Given the description of an element on the screen output the (x, y) to click on. 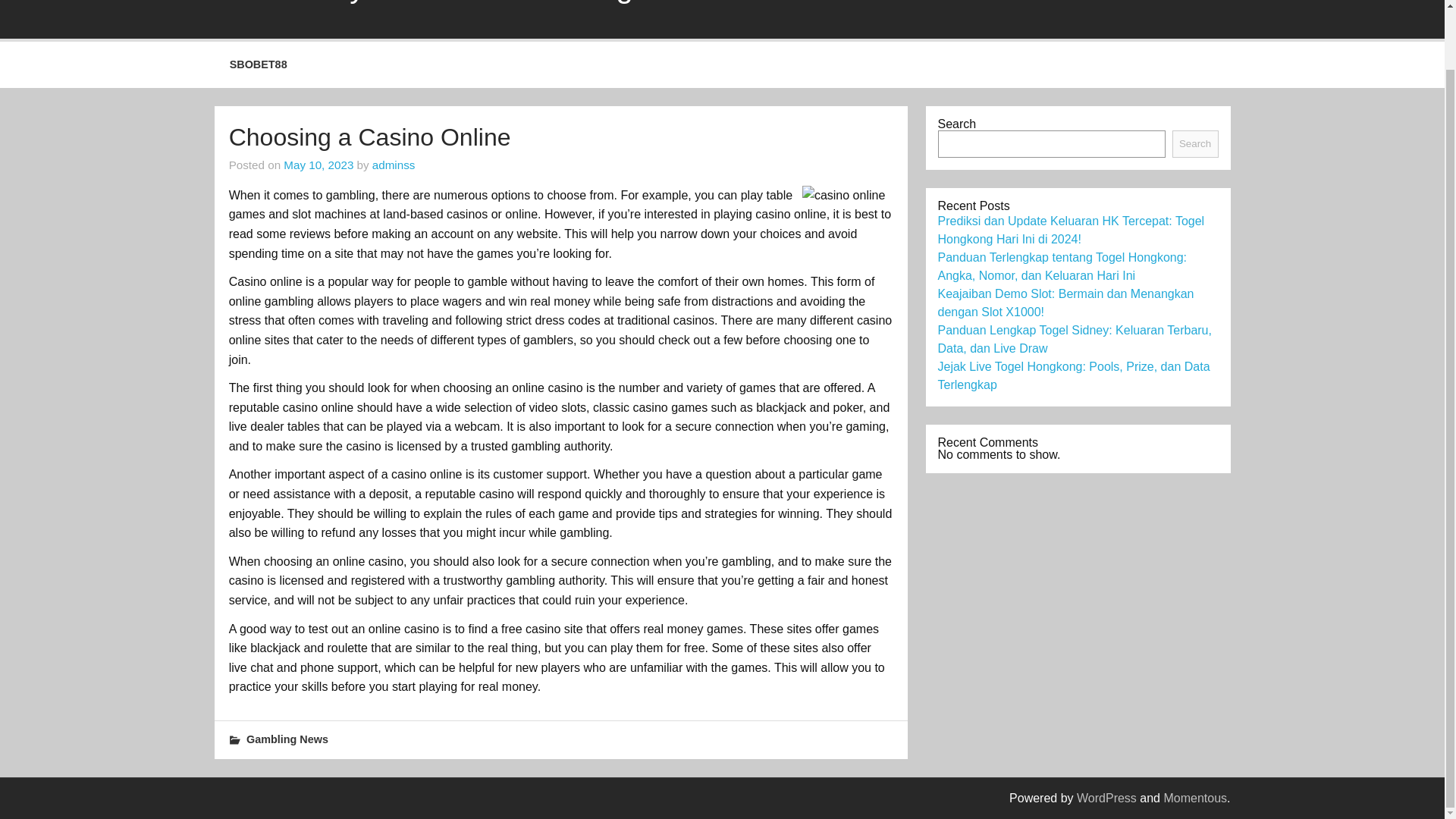
adminss (393, 164)
May 10, 2023 (318, 164)
WordPress (1107, 797)
WordPress (1107, 797)
Momentous WordPress Theme (1195, 797)
View all posts by adminss (393, 164)
5:59 am (318, 164)
Jejak Live Togel Hongkong: Pools, Prize, dan Data Terlengkap (1073, 375)
SBOBET88 (1182, 1)
Search (1195, 144)
